Given the description of an element on the screen output the (x, y) to click on. 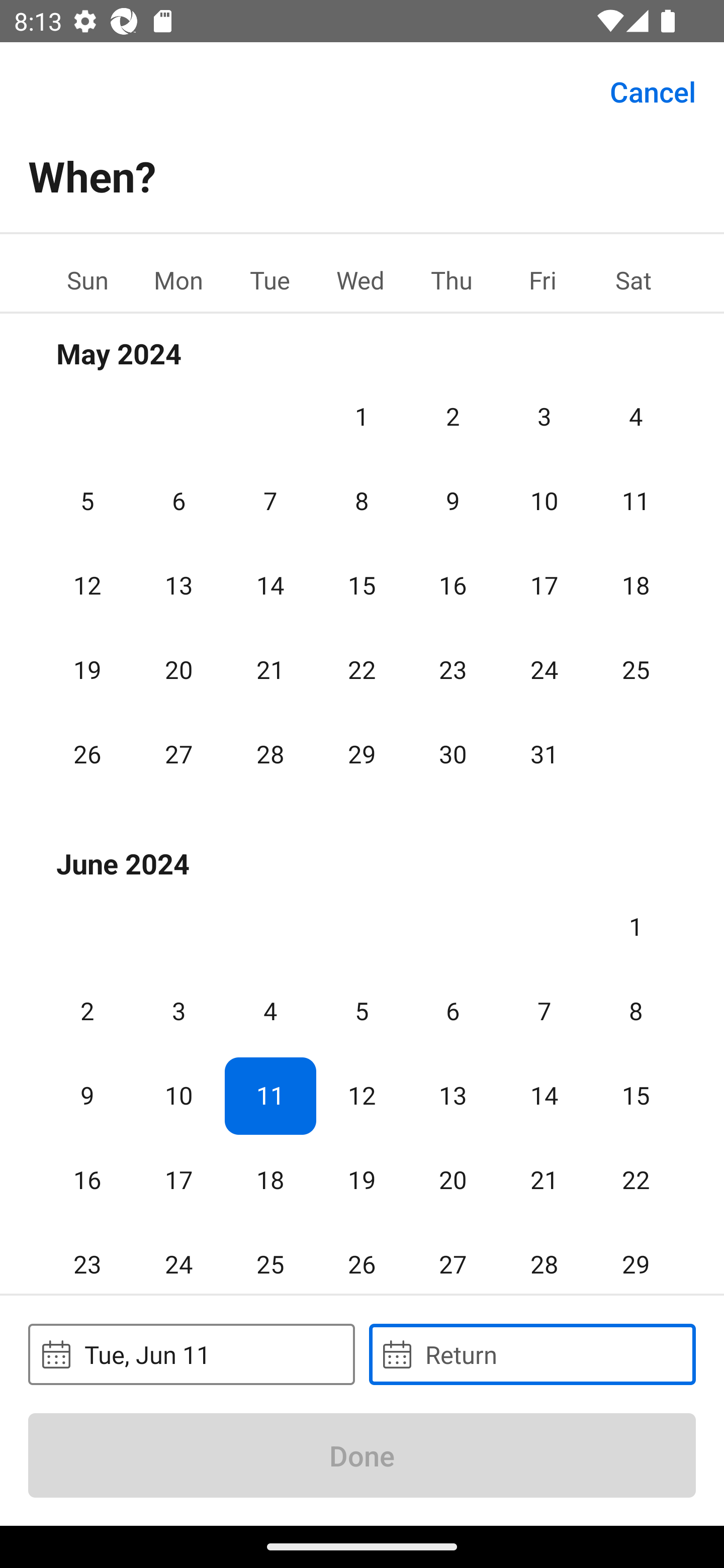
Cancel (652, 90)
Tue, Jun 11 (191, 1353)
Return (532, 1353)
Done (361, 1454)
